Given the description of an element on the screen output the (x, y) to click on. 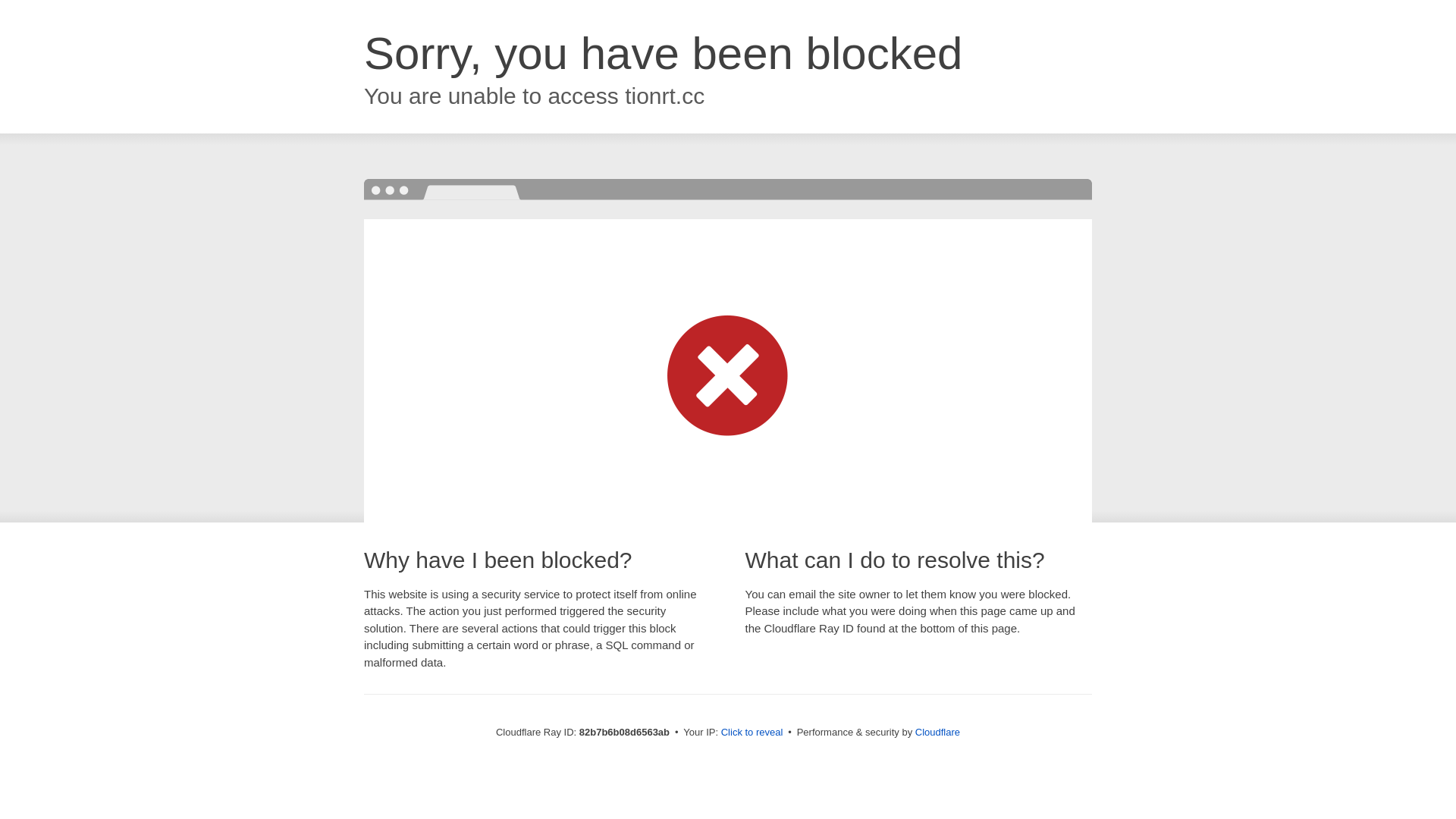
Click to reveal Element type: text (752, 732)
Cloudflare Element type: text (937, 731)
